Given the description of an element on the screen output the (x, y) to click on. 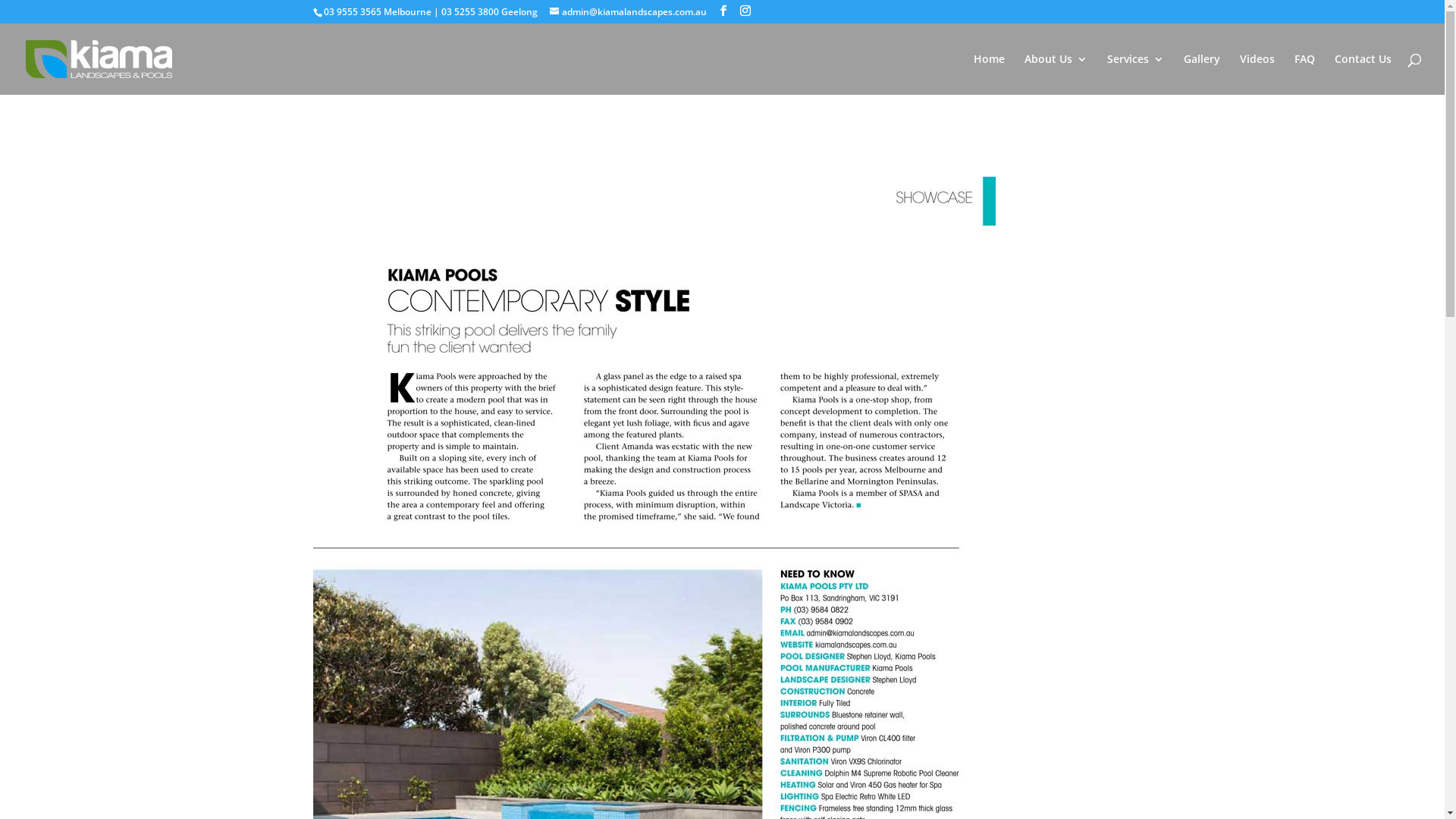
Contact Us Element type: text (1362, 73)
About Us Element type: text (1055, 73)
FAQ Element type: text (1304, 73)
Services Element type: text (1135, 73)
Gallery Element type: text (1201, 73)
Videos Element type: text (1256, 73)
admin@kiamalandscapes.com.au Element type: text (627, 11)
Home Element type: text (988, 73)
